Given the description of an element on the screen output the (x, y) to click on. 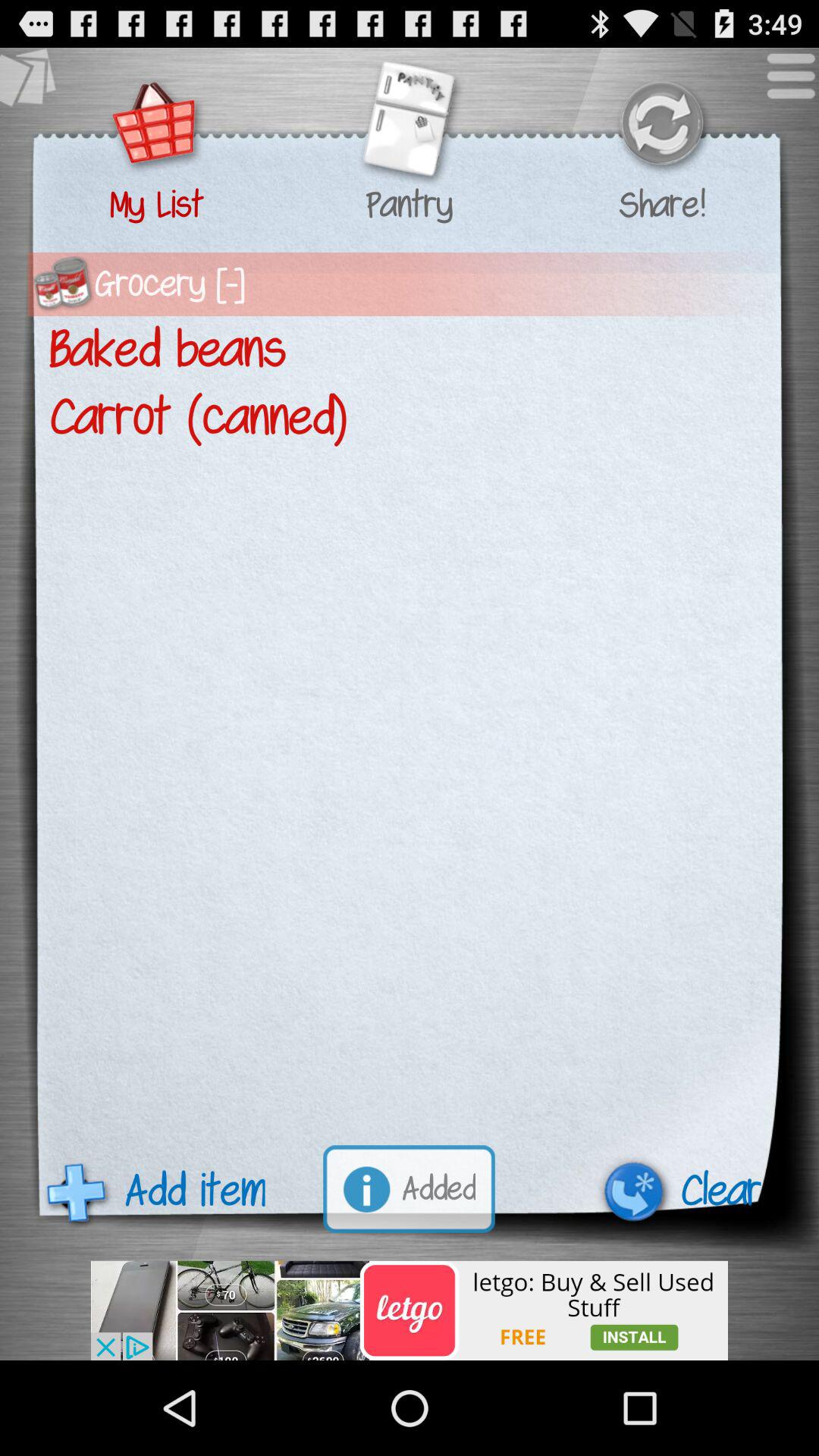
click to see what 's on your list (156, 125)
